Given the description of an element on the screen output the (x, y) to click on. 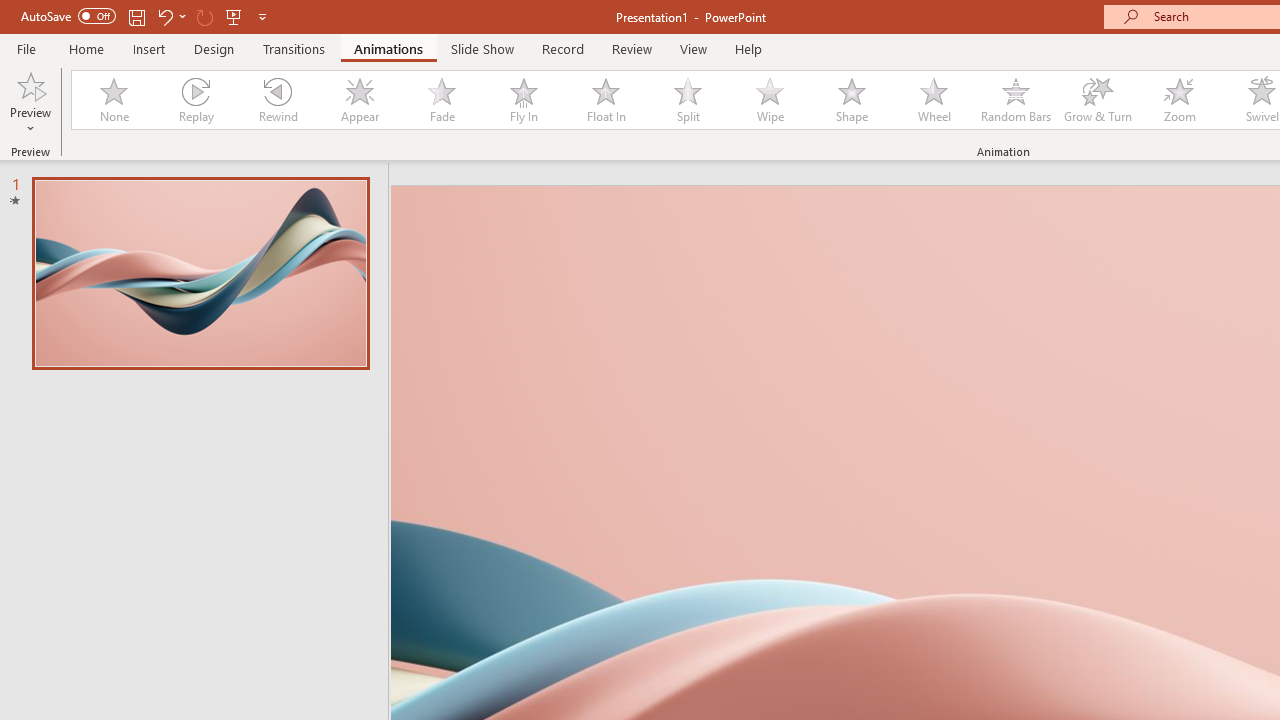
Fly In (523, 100)
Wheel (934, 100)
Grow & Turn (1098, 100)
